Given the description of an element on the screen output the (x, y) to click on. 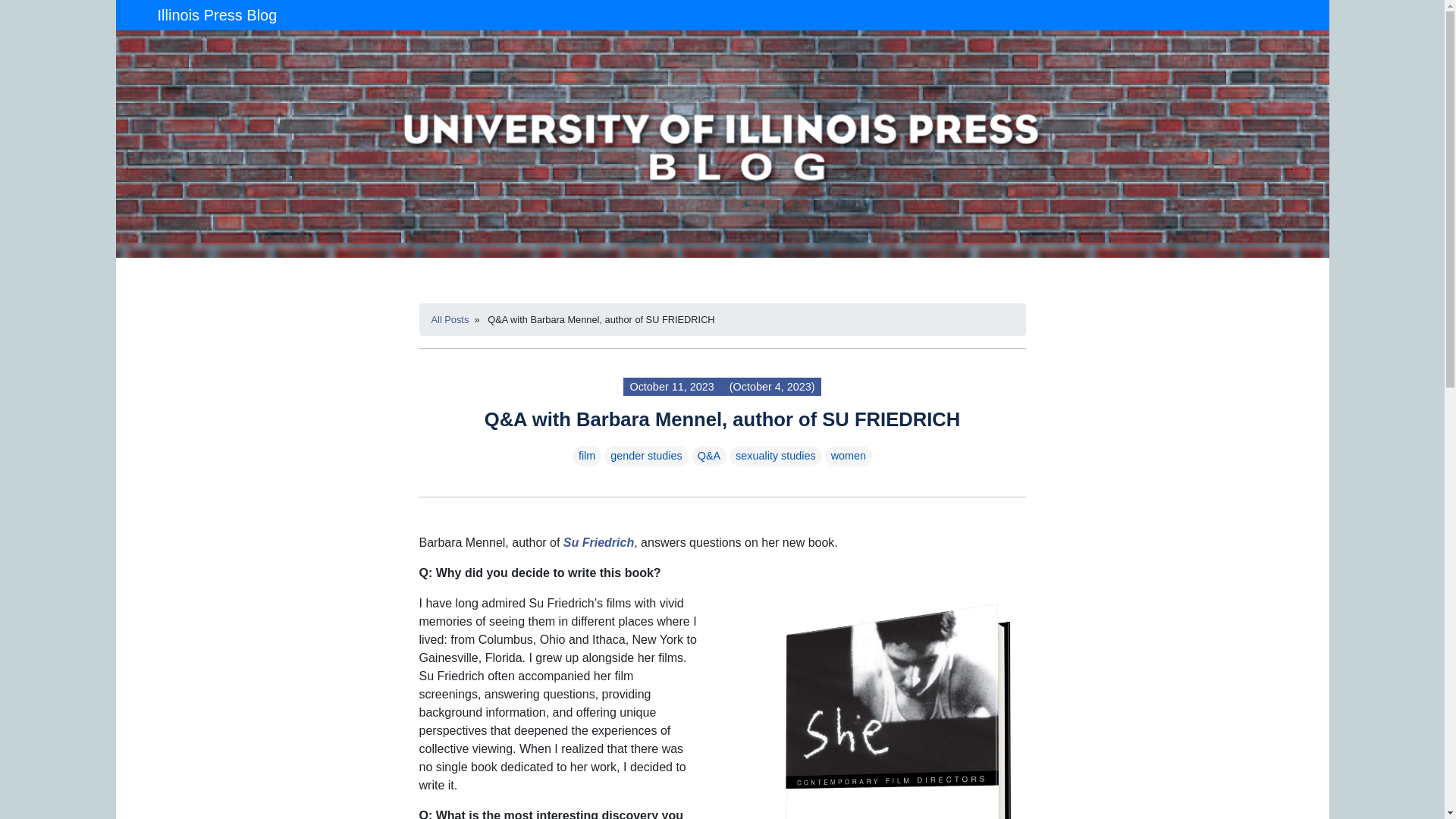
Illinois Press Blog (217, 15)
All Posts (449, 319)
gender studies (645, 455)
sexuality studies (775, 455)
film (586, 455)
Su Friedrich (598, 542)
Illinois Press Blog (217, 15)
women (848, 455)
